Given the description of an element on the screen output the (x, y) to click on. 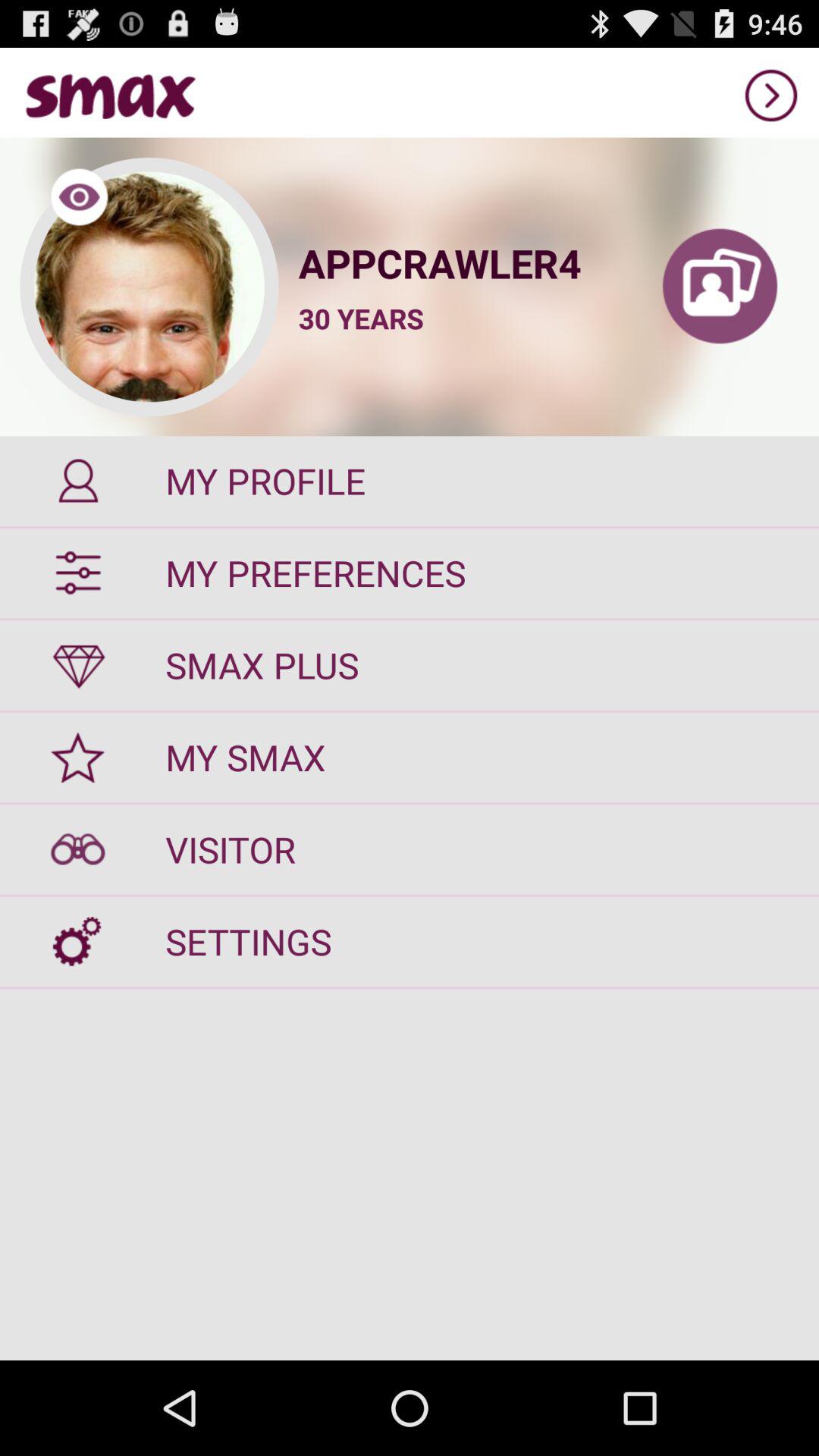
scroll to appcrawler4 (459, 262)
